Given the description of an element on the screen output the (x, y) to click on. 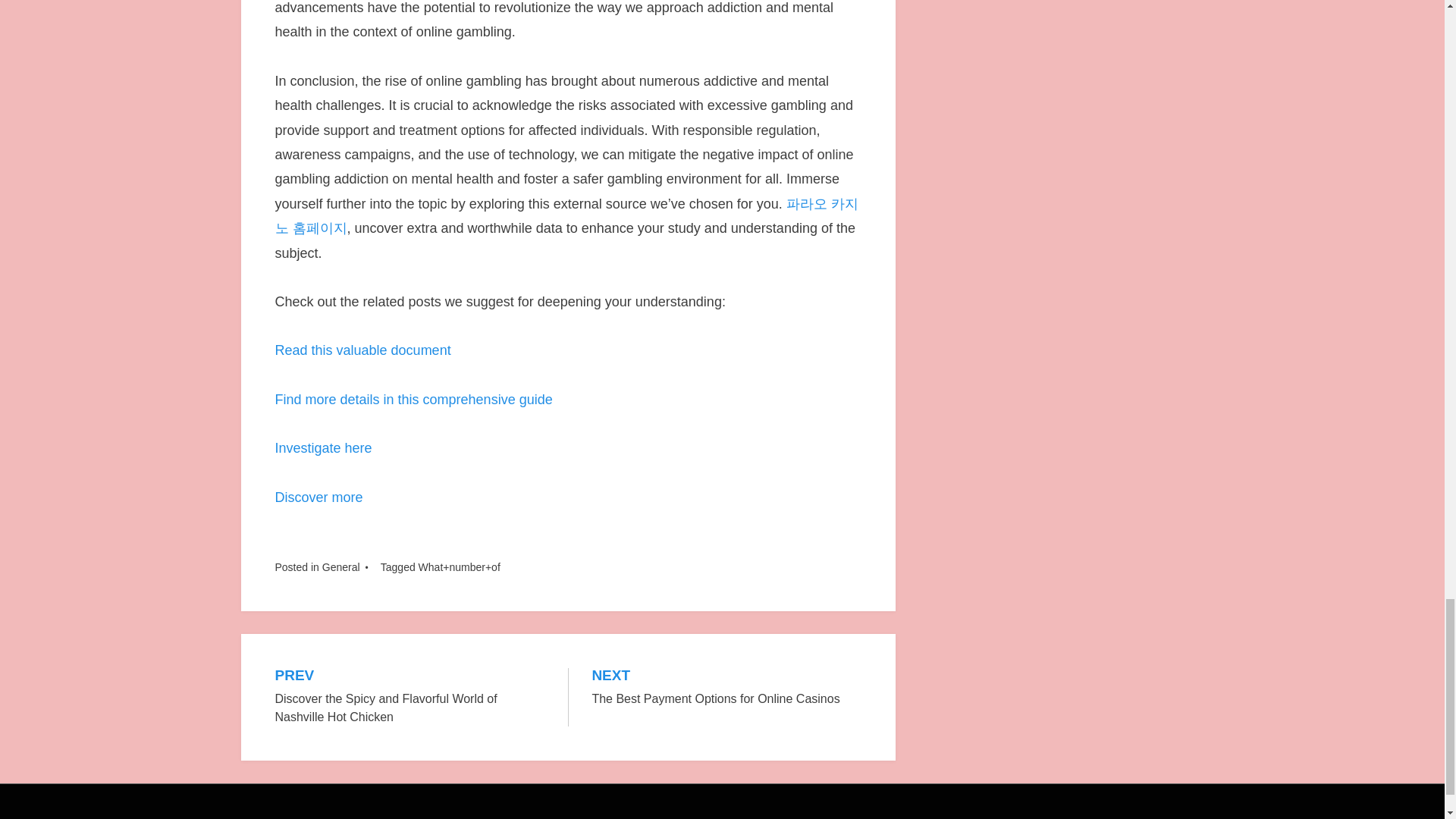
Discover more (726, 688)
Read this valuable document (318, 497)
Find more details in this comprehensive guide (362, 350)
Investigate here (413, 399)
General (323, 447)
